Given the description of an element on the screen output the (x, y) to click on. 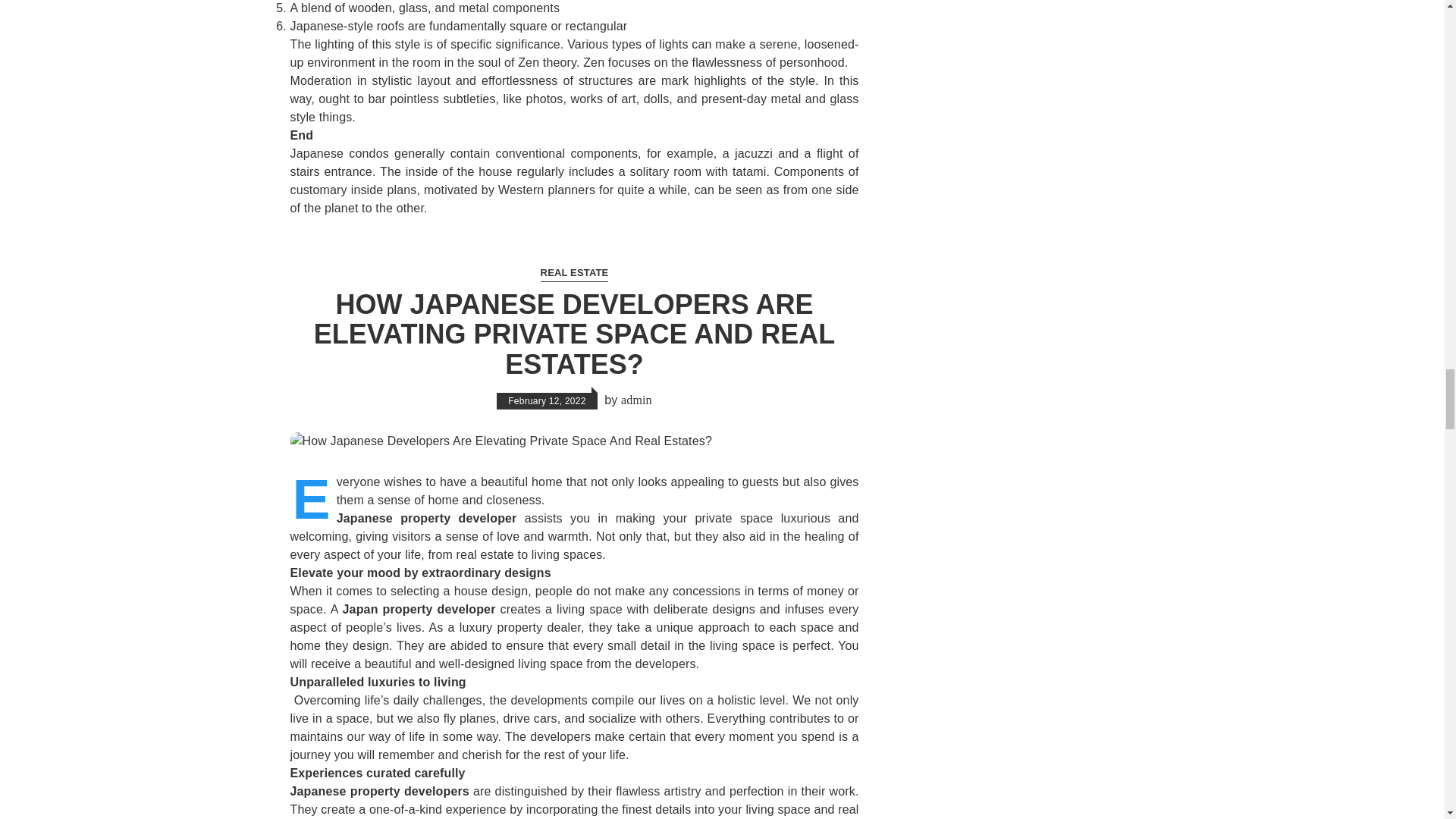
admin (636, 400)
Japanese property developers (378, 790)
Japanese property developer (426, 517)
REAL ESTATE (574, 273)
February 12, 2022 (546, 401)
